Given the description of an element on the screen output the (x, y) to click on. 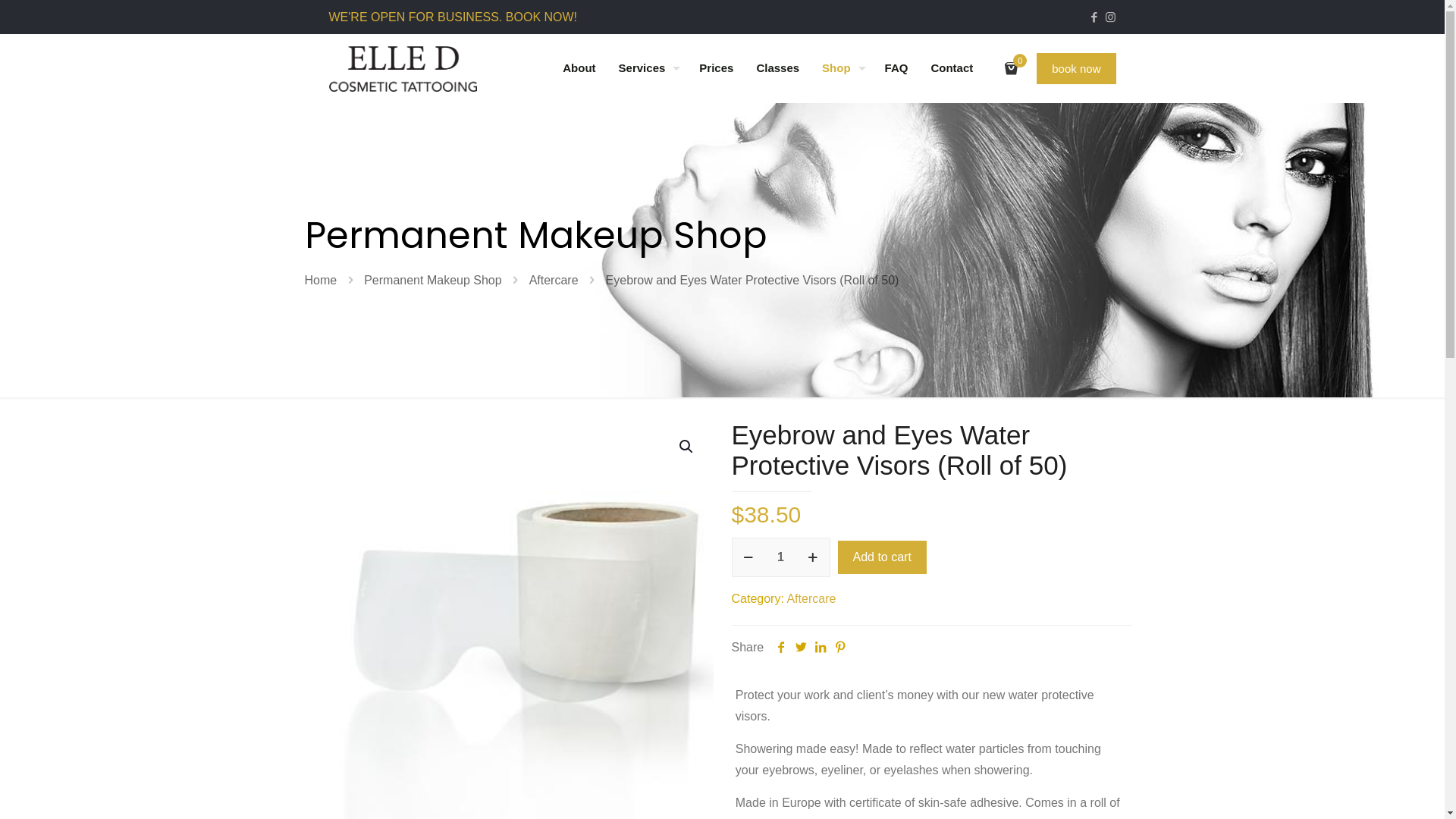
Classes Element type: text (777, 68)
Facebook Element type: hover (1094, 16)
Contact Element type: text (951, 68)
FAQ Element type: text (896, 68)
Add to cart Element type: text (881, 557)
Home Element type: text (320, 279)
Aftercare Element type: text (810, 598)
Shop Element type: text (841, 68)
Aftercare Element type: text (553, 279)
Permanent Makeup Shop Element type: text (432, 279)
Prices Element type: text (715, 68)
About Element type: text (578, 68)
Instagram Element type: hover (1109, 16)
Elle D Cosmetic Tattooing Element type: hover (402, 68)
0 Element type: text (1016, 67)
Services Element type: text (647, 68)
book now Element type: text (1075, 68)
